Given the description of an element on the screen output the (x, y) to click on. 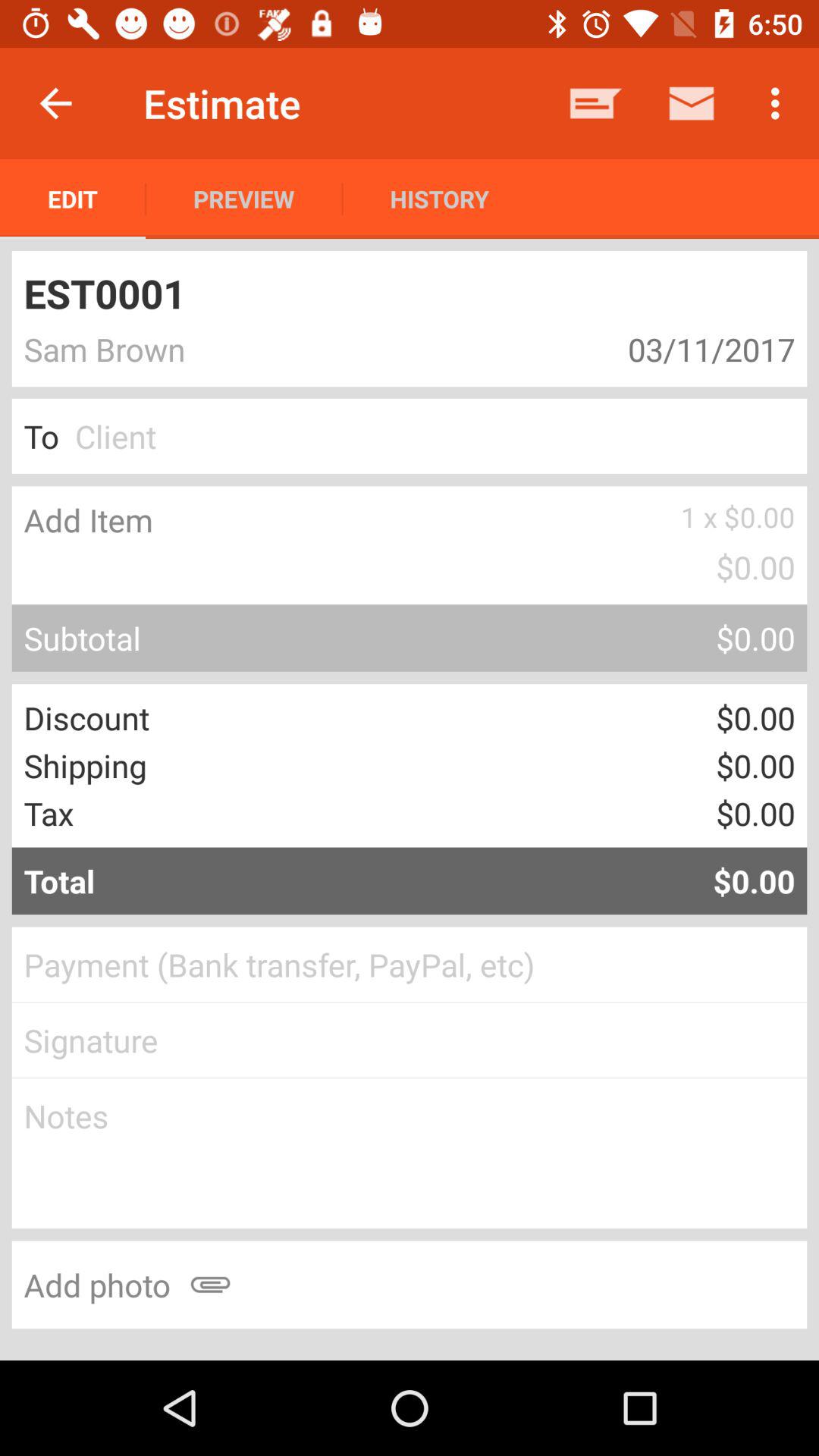
choose the app next to history item (243, 198)
